Given the description of an element on the screen output the (x, y) to click on. 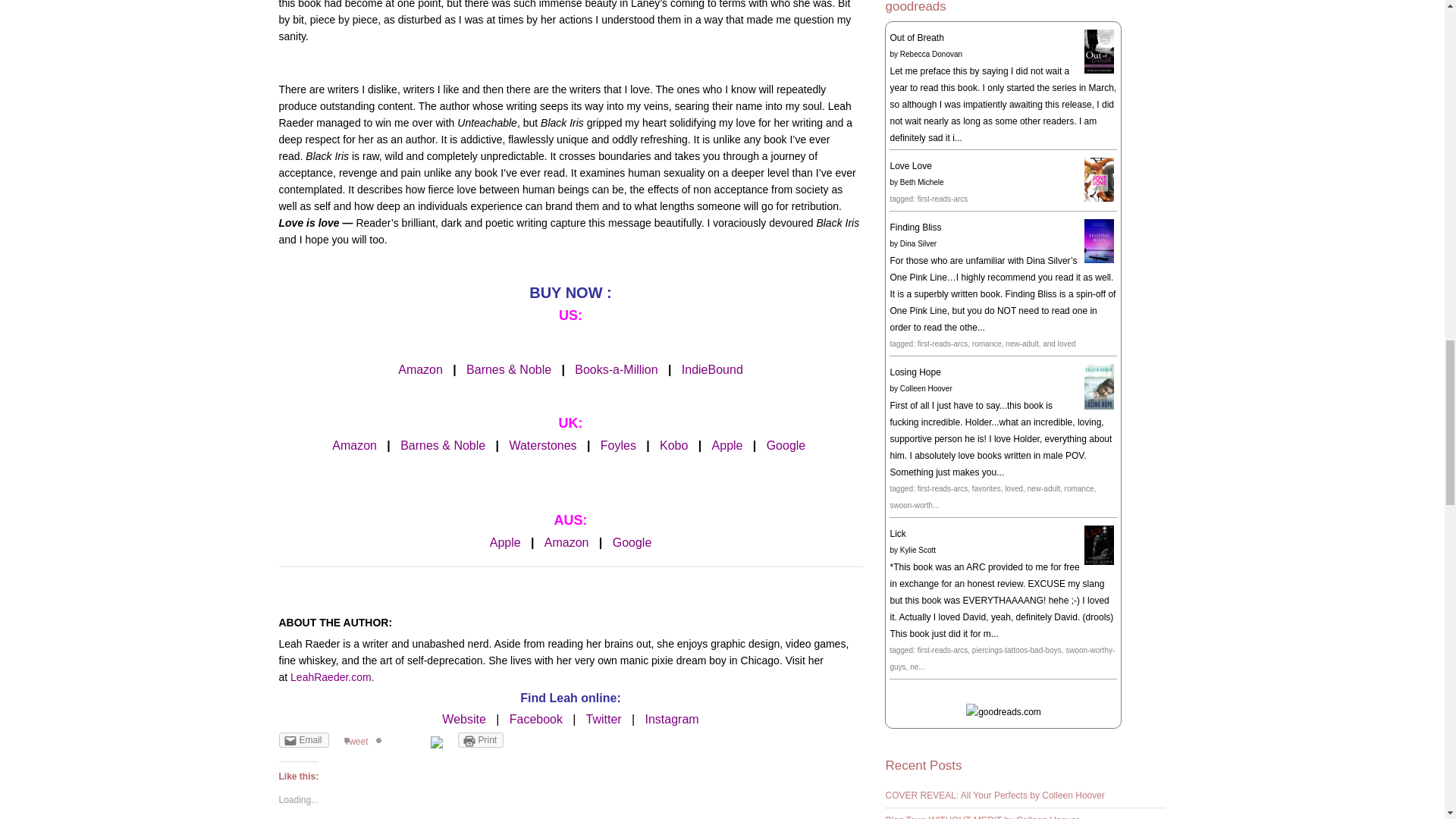
Books-a-Million (616, 369)
Share on Tumblr (399, 739)
Foyles (617, 445)
Waterstones (542, 445)
Google (786, 445)
Google (632, 542)
Twitter (603, 718)
Tweet (355, 741)
Click to print (480, 739)
Print (480, 739)
Facebook (535, 718)
IndieBound (711, 369)
Kobo (673, 445)
LeahRaeder.com (330, 676)
Click to email this to a friend (304, 739)
